Given the description of an element on the screen output the (x, y) to click on. 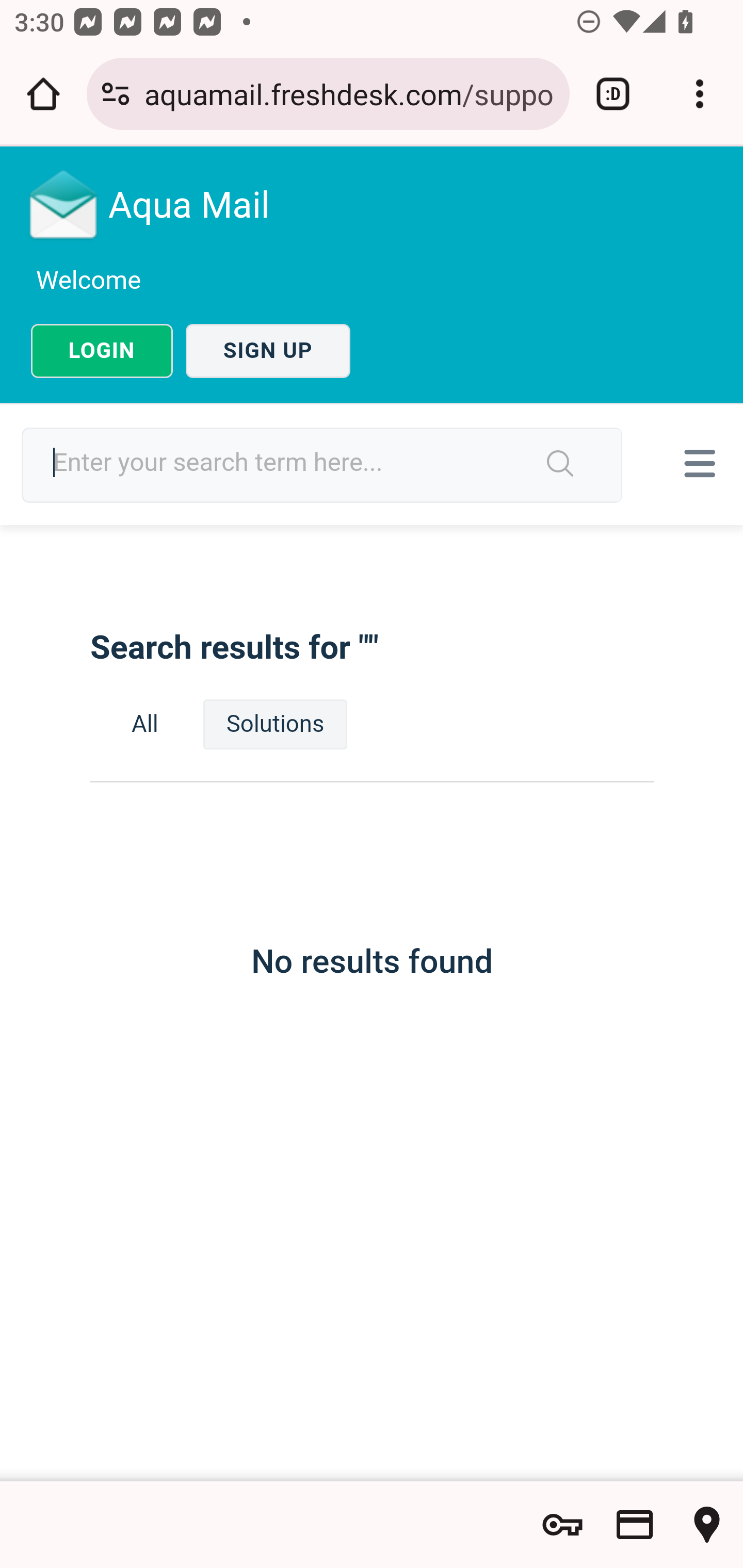
Open the home page (43, 93)
Connection is secure (115, 93)
Switch or close tabs (612, 93)
Customize and control Google Chrome (699, 93)
Logo (63, 204)
LOGIN (101, 351)
SIGN UP (268, 351)
 (695, 463)
All (145, 724)
Solutions (275, 724)
Show saved passwords and password options (562, 1524)
Show saved payment methods (634, 1524)
Show saved addresses (706, 1524)
